Given the description of an element on the screen output the (x, y) to click on. 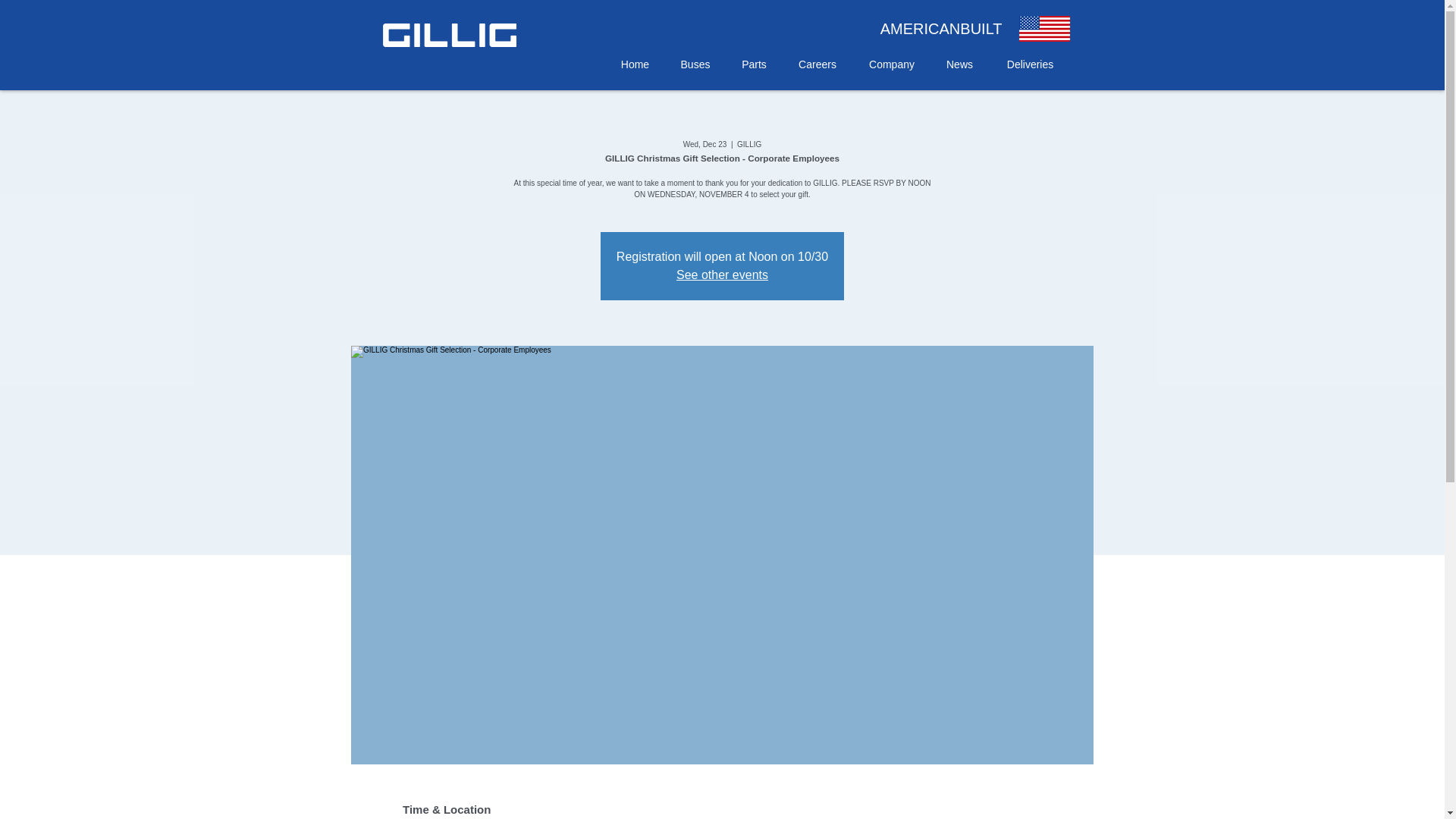
Careers (818, 64)
News (959, 64)
Buses (694, 64)
See other events (722, 274)
Deliveries (1029, 64)
Home (634, 64)
Parts (754, 64)
Company (890, 64)
